Given the description of an element on the screen output the (x, y) to click on. 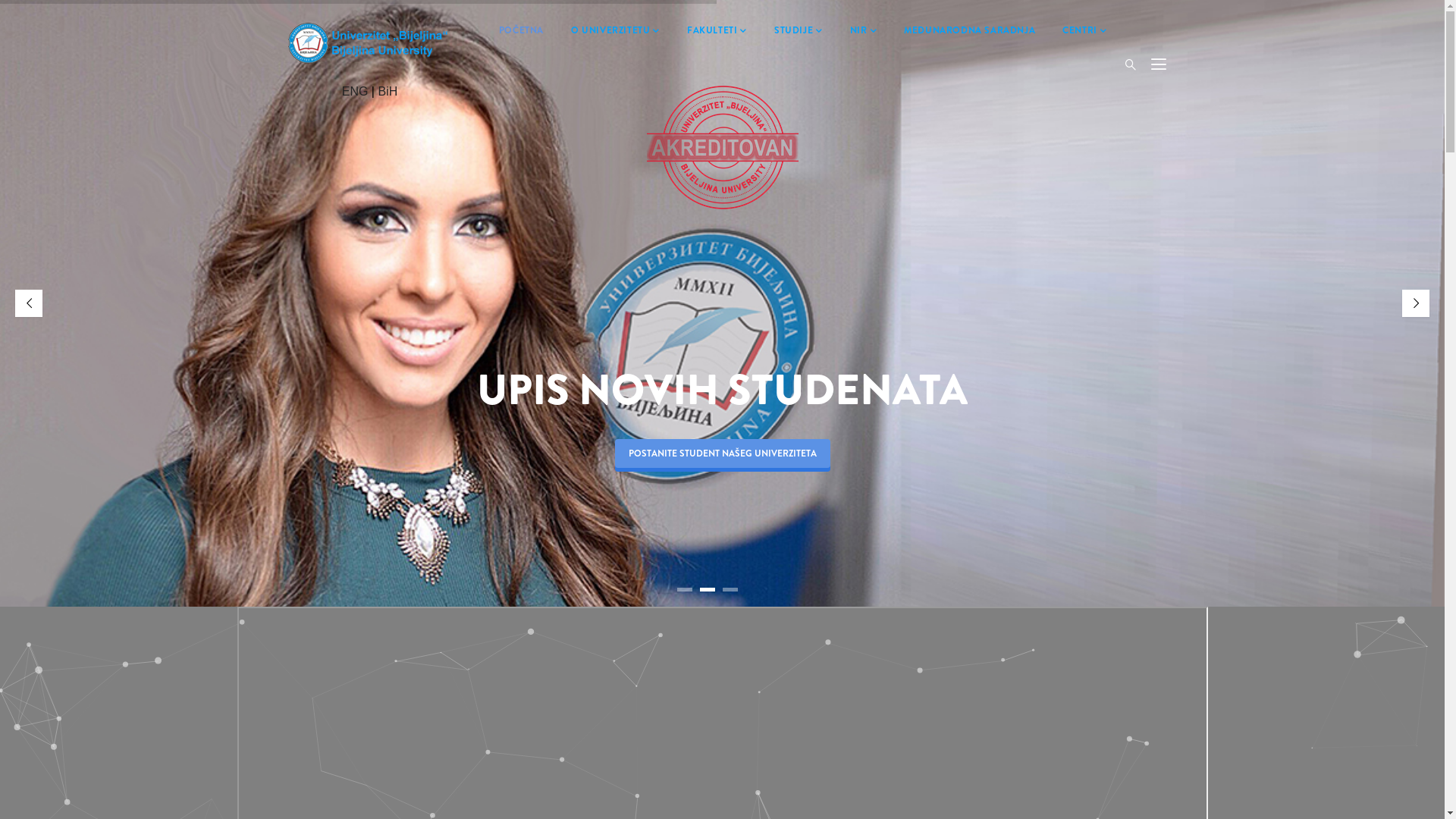
Skip to main content Element type: text (0, 0)
Home Element type: hover (370, 37)
BiH Element type: text (387, 90)
FAKULTETI Element type: text (716, 30)
CENTRI Element type: text (1084, 30)
O UNIVERZITETU Element type: text (615, 30)
ENG Element type: text (355, 90)
STUDIJE Element type: text (798, 30)
NIR Element type: text (863, 30)
